Given the description of an element on the screen output the (x, y) to click on. 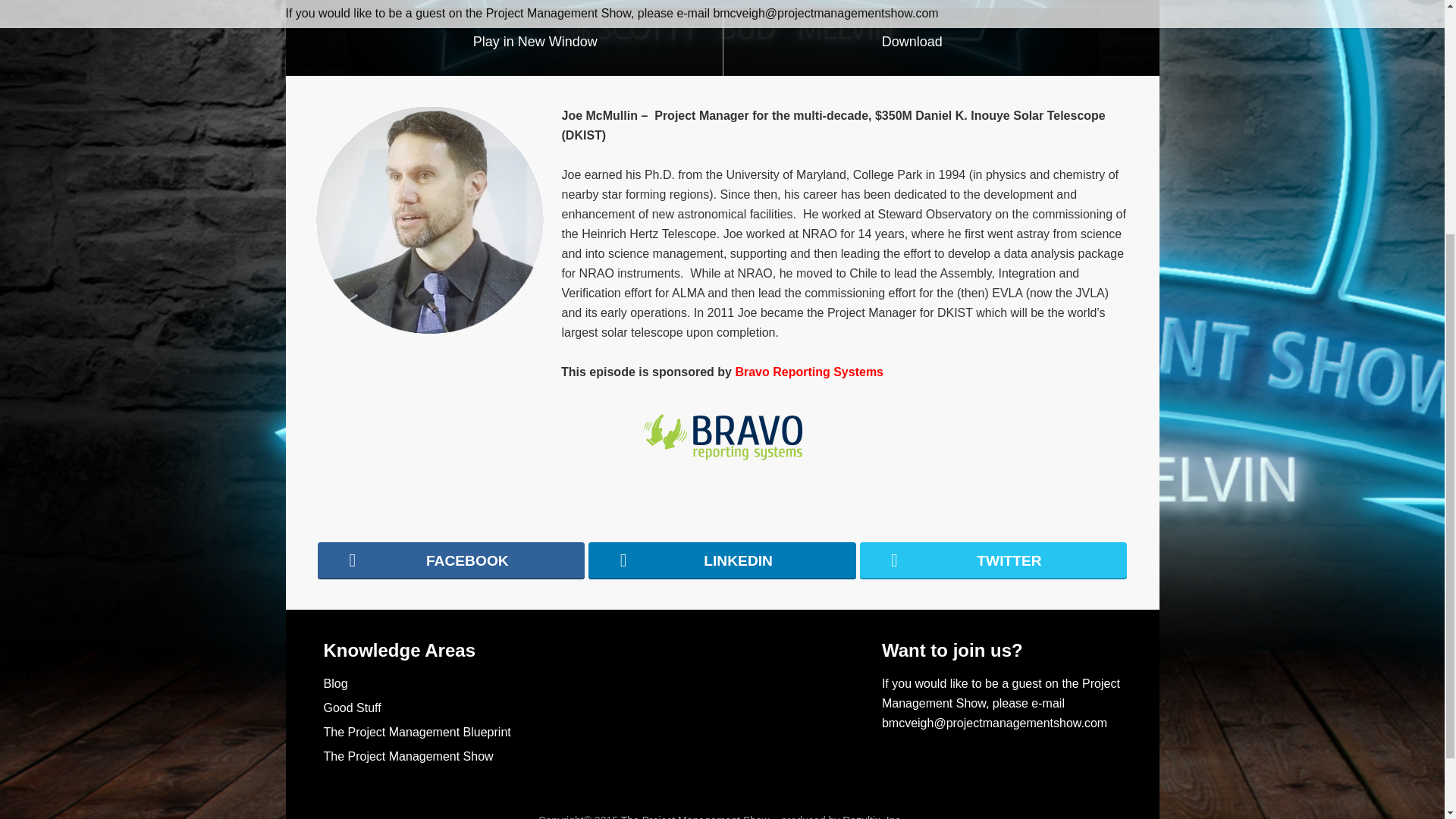
Good Stuff (351, 707)
The Project Management Show (408, 756)
LINKEDIN (722, 560)
Play in New Window (535, 42)
Play in New Window (535, 42)
Blog (335, 683)
Download (911, 42)
TWITTER (993, 560)
Download (911, 42)
The Project Management Blueprint (417, 731)
